Given the description of an element on the screen output the (x, y) to click on. 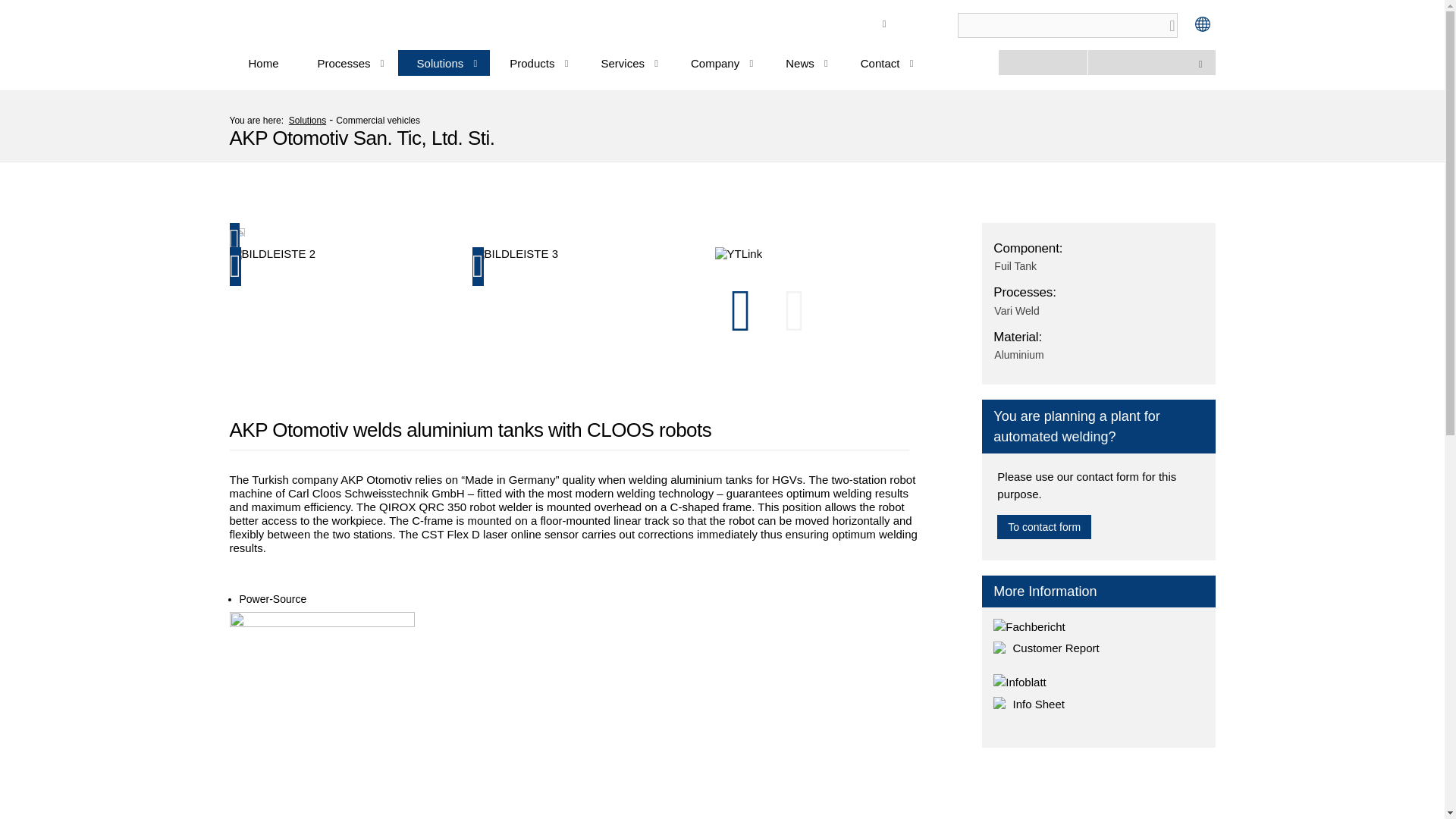
QINEO NexT-452-AC Premium (320, 715)
German (782, 6)
Spanish (782, 23)
English (779, 41)
Home (262, 60)
Solutions (443, 62)
Home (262, 60)
Products (535, 61)
Processes (347, 61)
